Given the description of an element on the screen output the (x, y) to click on. 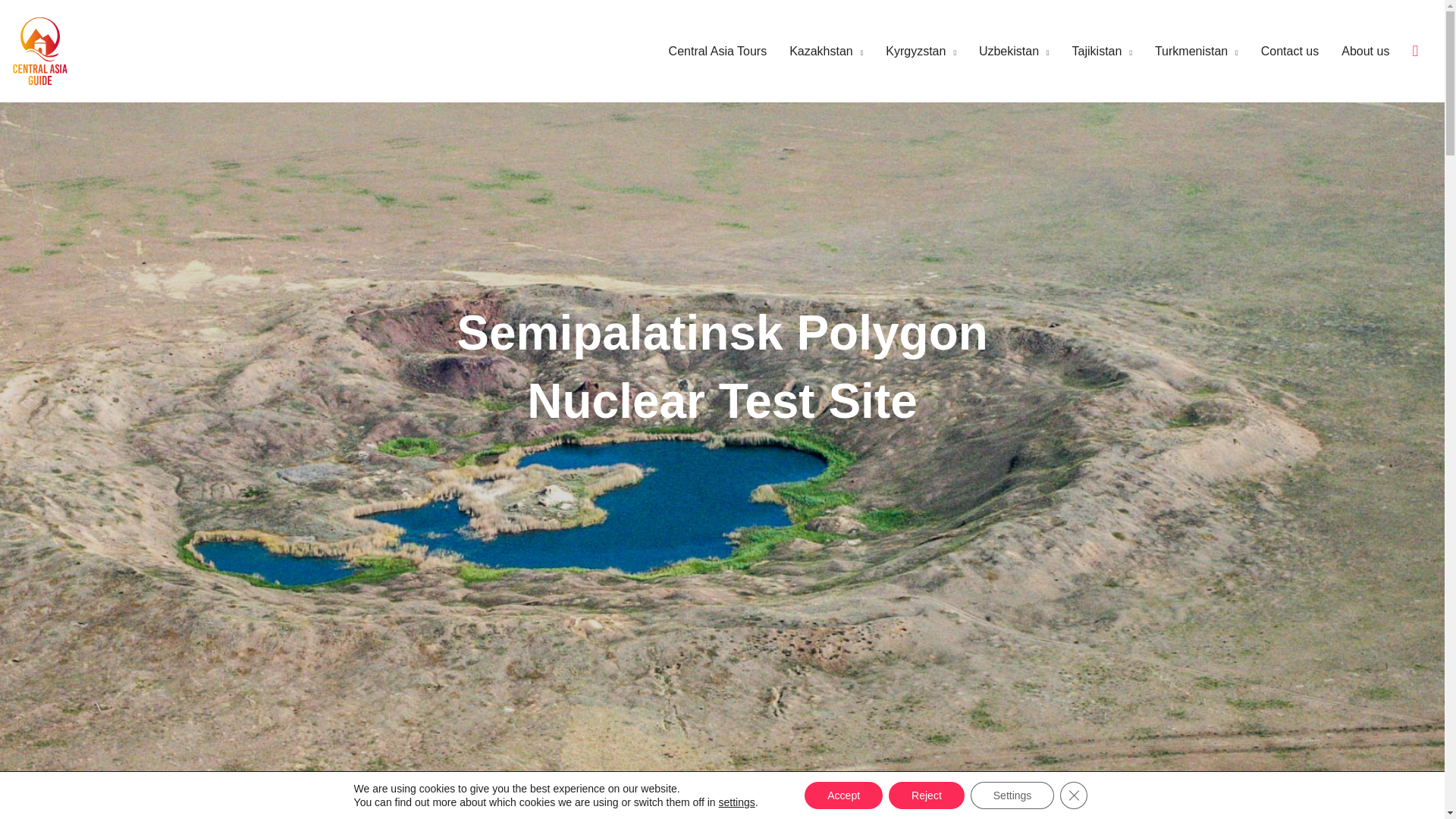
Tajikistan (1090, 51)
Central Asia Tours (706, 51)
Uzbekistan (1002, 51)
Turkmenistan (1185, 51)
Kyrgyzstan (909, 51)
Kazakhstan (815, 51)
